Given the description of an element on the screen output the (x, y) to click on. 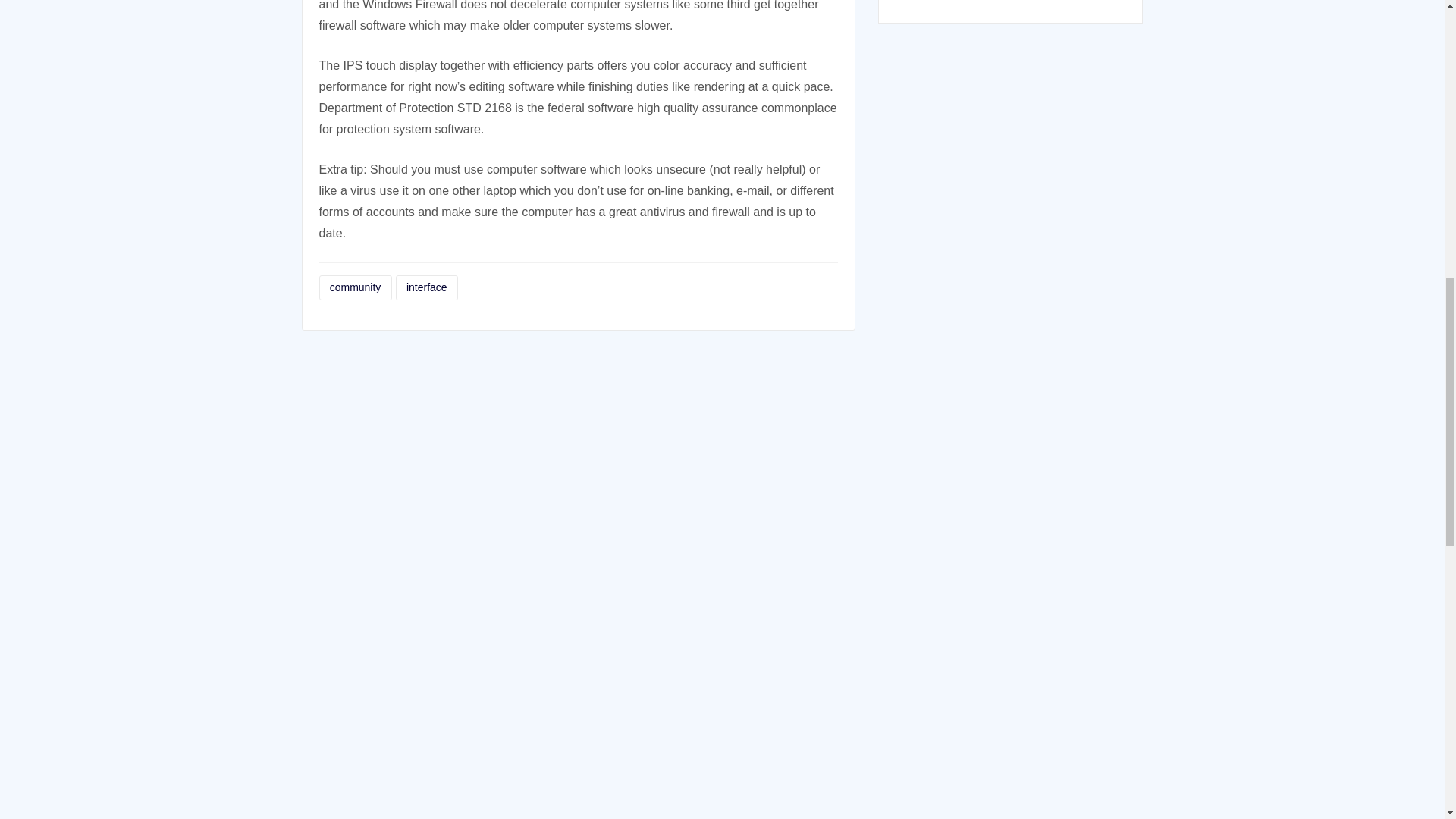
community (354, 287)
interface (427, 287)
